Given the description of an element on the screen output the (x, y) to click on. 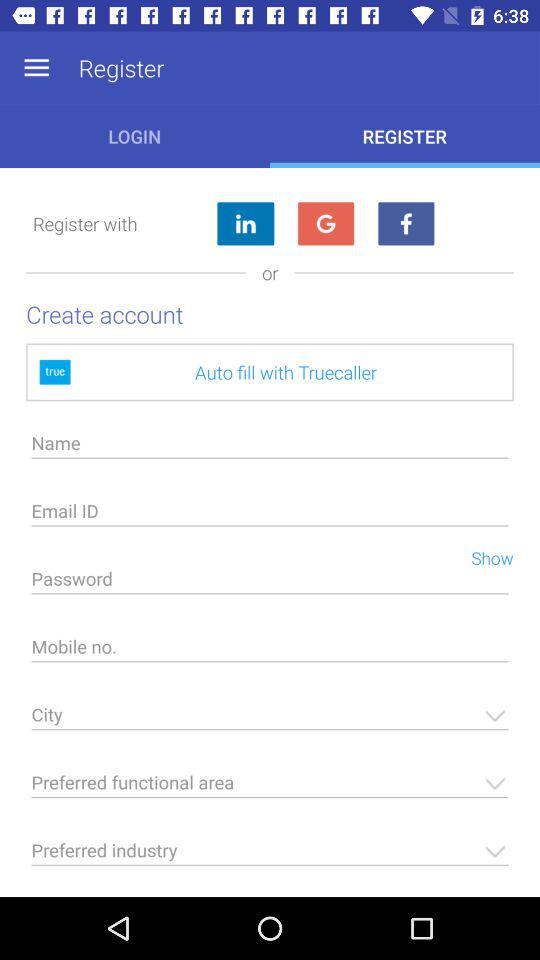
enter your email id (269, 516)
